Given the description of an element on the screen output the (x, y) to click on. 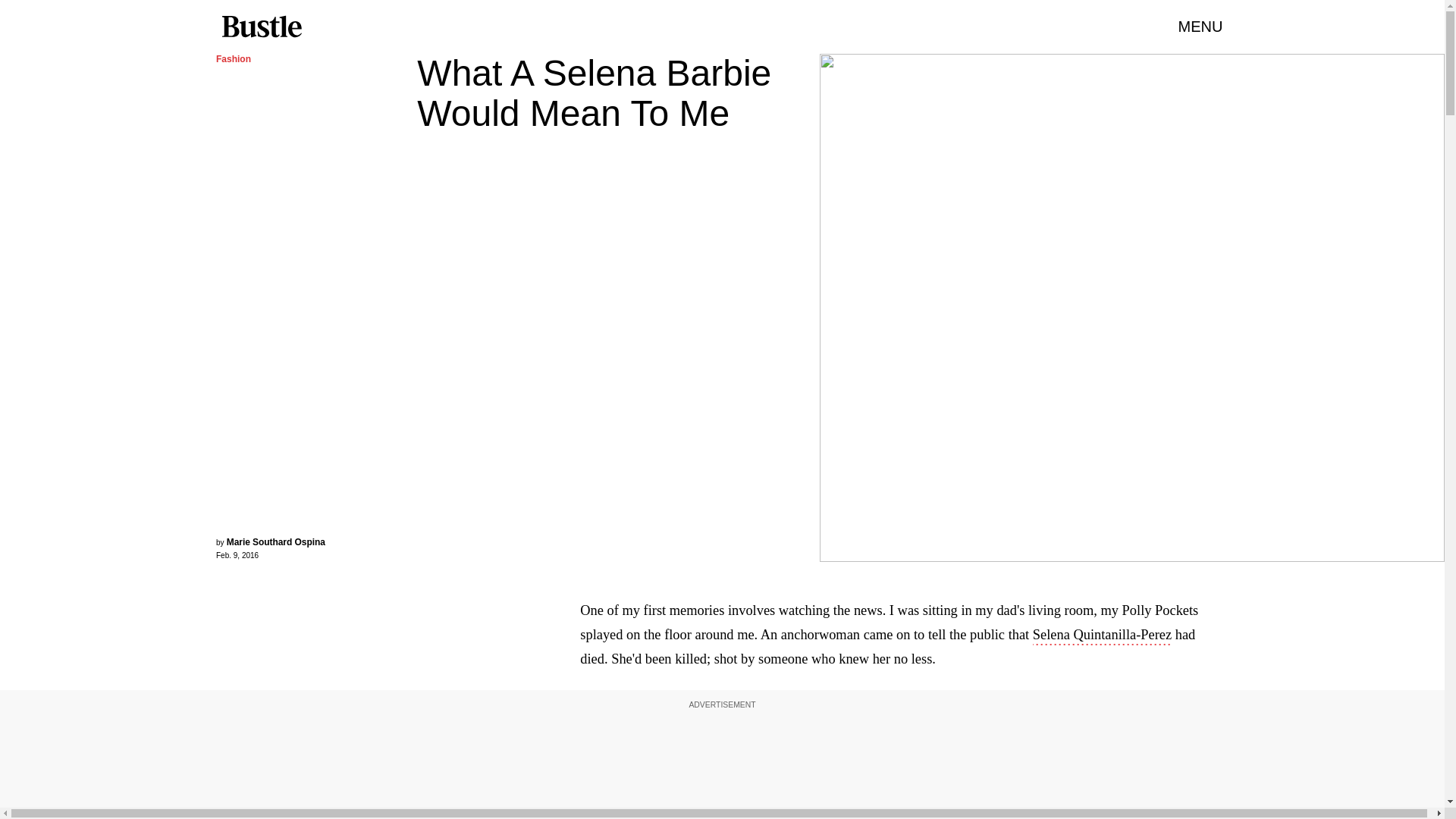
Marie Southard Ospina (275, 542)
Selena Quintanilla-Perez (1102, 636)
Bustle (261, 26)
